Given the description of an element on the screen output the (x, y) to click on. 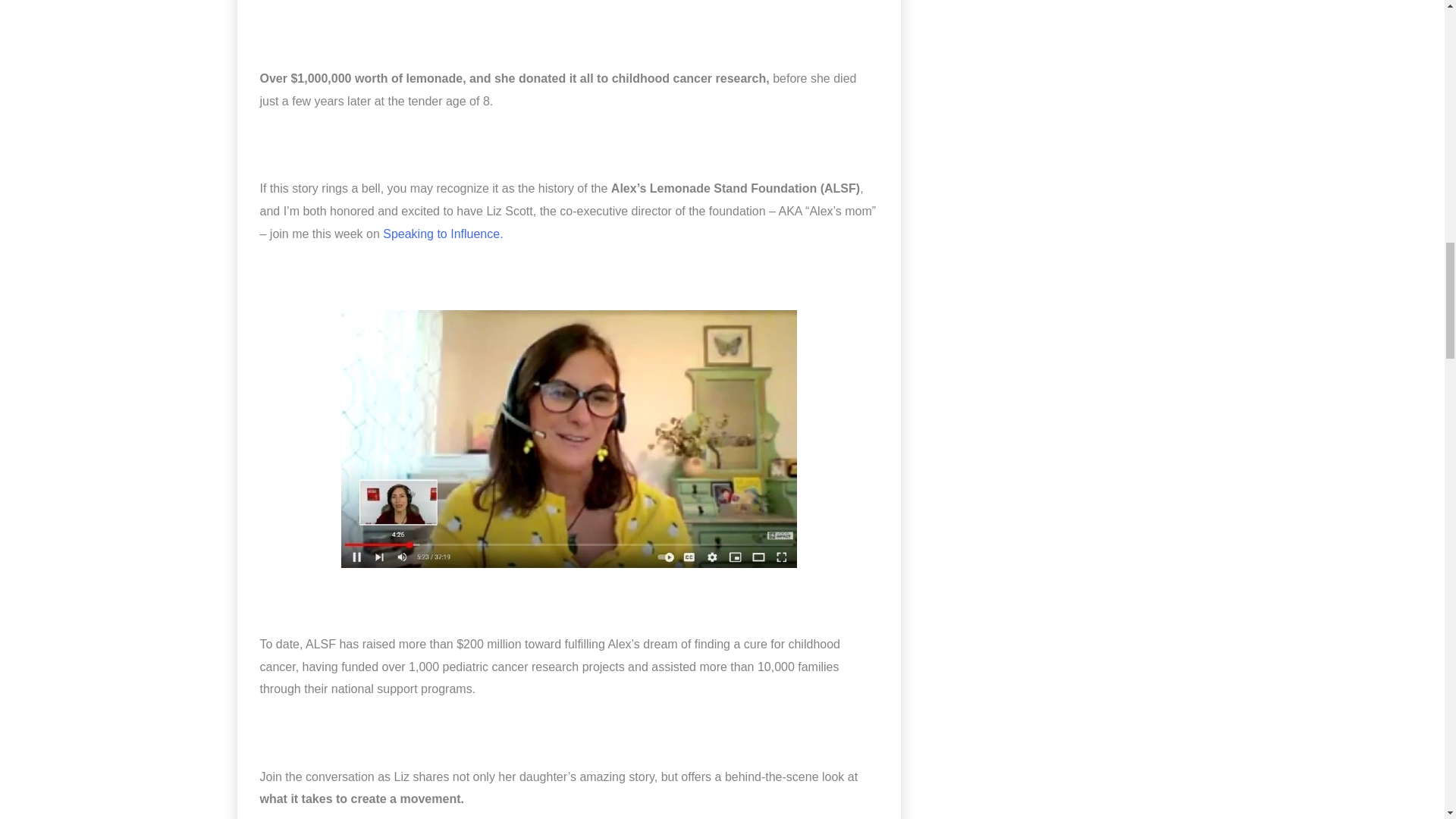
Speaking to Influence. (442, 233)
